Given the description of an element on the screen output the (x, y) to click on. 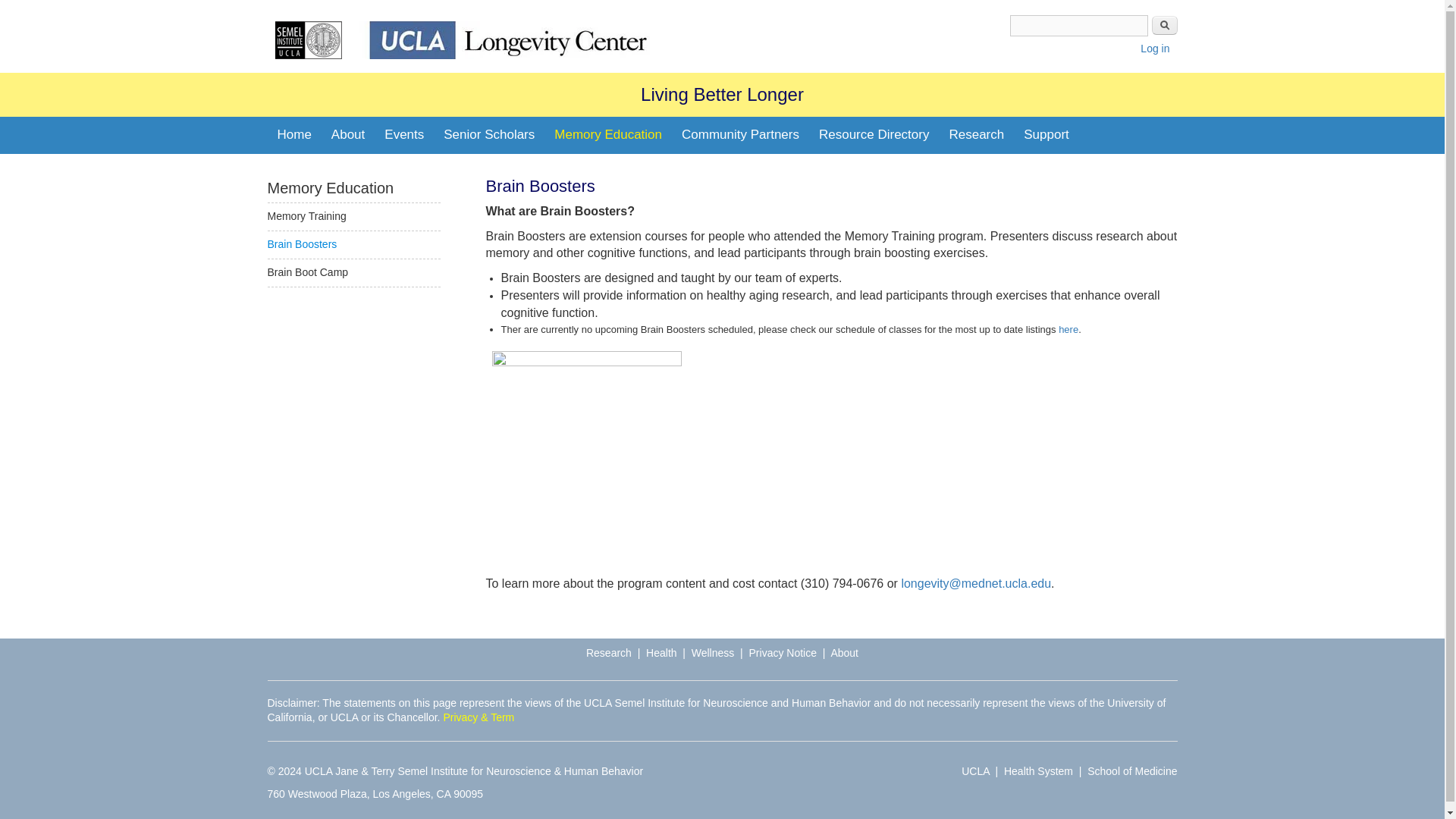
About (347, 135)
Enter the terms you wish to search for. (1079, 25)
UCLA Hospitals and Health Services (1038, 770)
Community Partners (740, 135)
Events (403, 135)
Support (1045, 135)
David Geffen School of Medicine at UCLA (1131, 770)
Log in (1154, 48)
Home (293, 135)
Brain Boosters (301, 244)
University of California Los Angeles (975, 770)
Search (1163, 25)
Resource Directory (874, 135)
Research (976, 135)
Memory Training (306, 215)
